Given the description of an element on the screen output the (x, y) to click on. 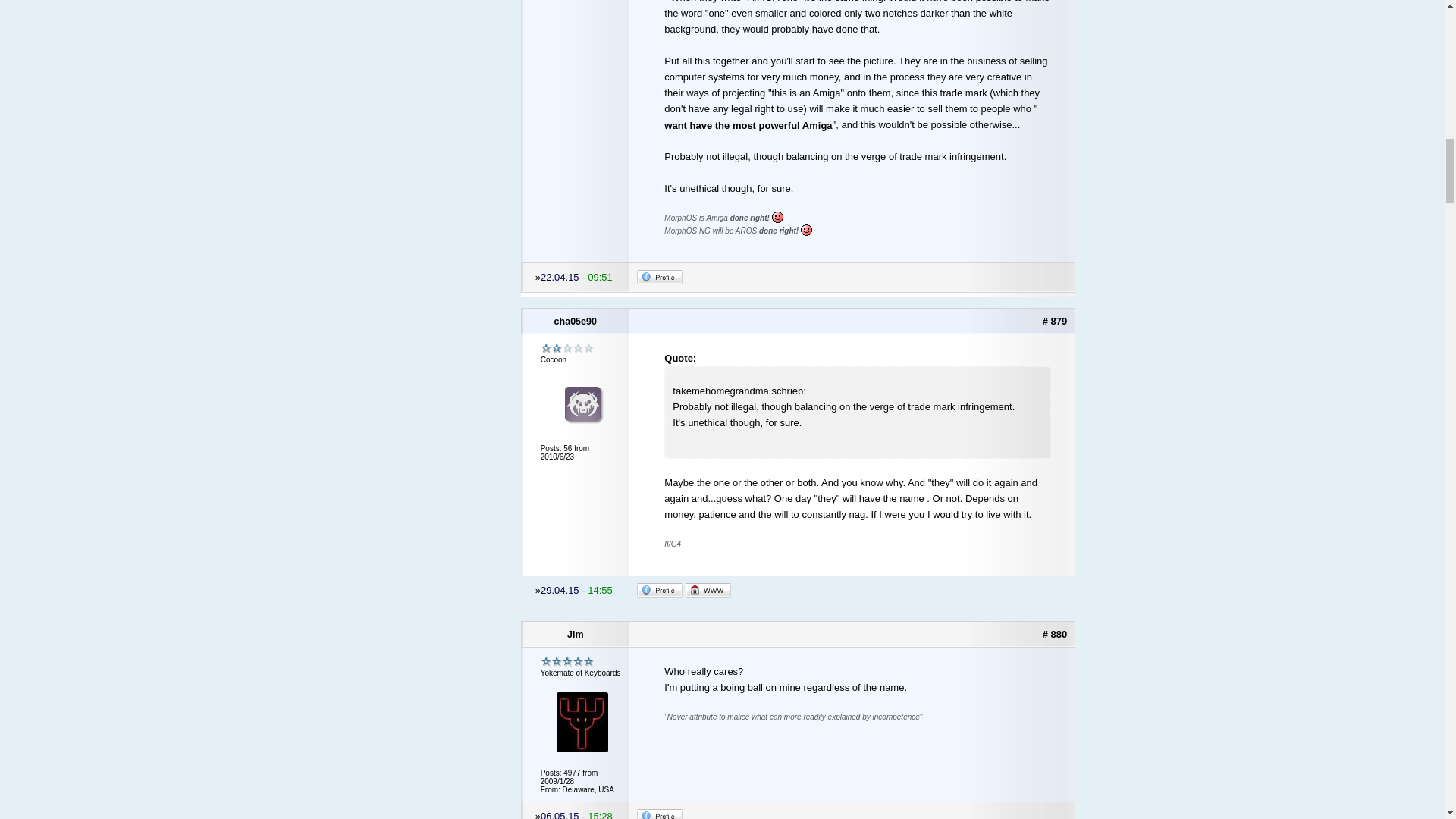
Yokemate of Keyboards (567, 661)
Cocoon (567, 348)
cha05e90 (575, 320)
Show alone this post... (1054, 633)
Jim (575, 634)
Show alone this post... (1054, 320)
want have the most powerful Amiga (747, 125)
